Given the description of an element on the screen output the (x, y) to click on. 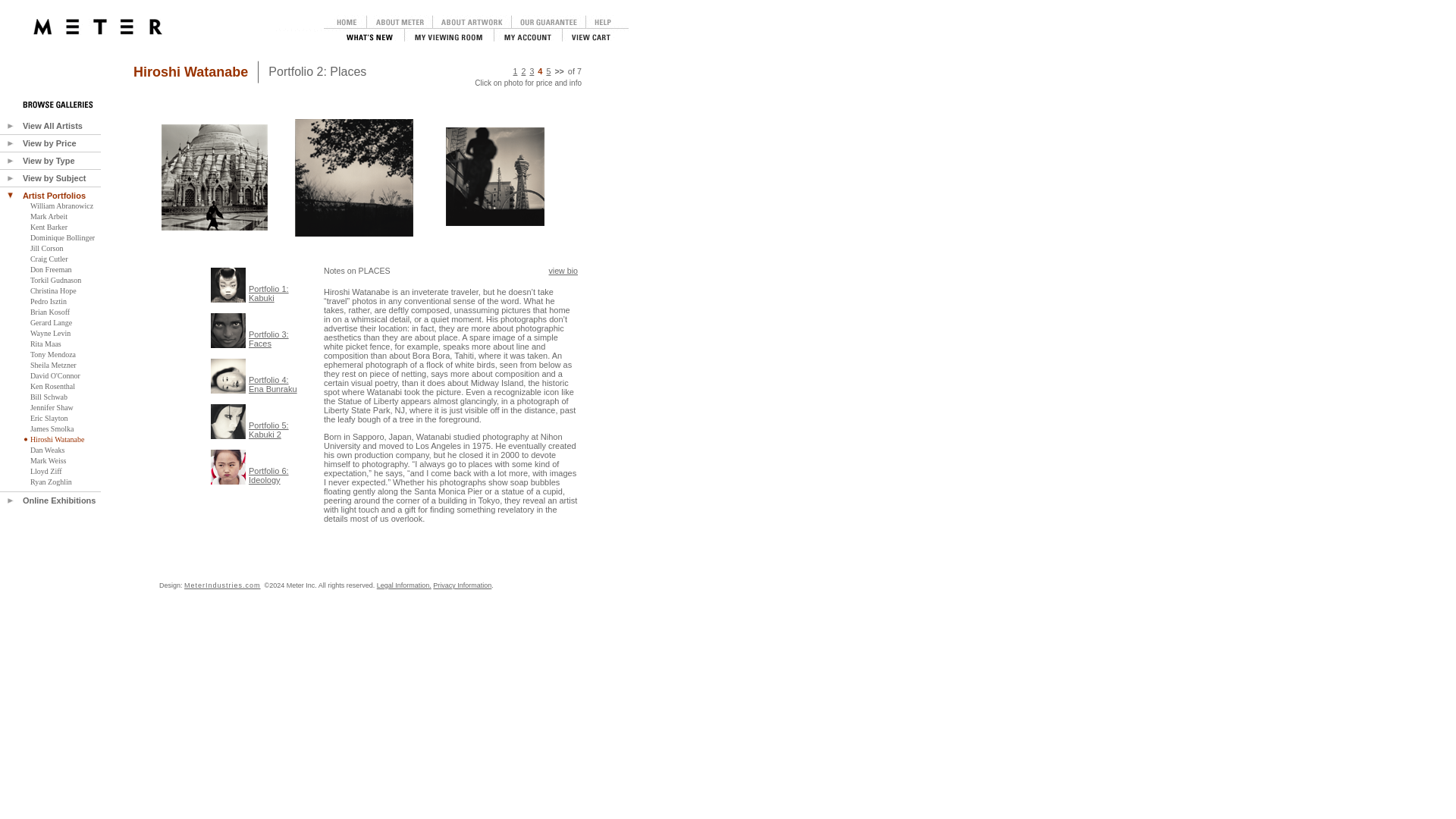
View by Price (50, 143)
Artist Portfolios (54, 194)
View by Type (49, 160)
View by Subject (54, 177)
View All Artists (52, 125)
